Given the description of an element on the screen output the (x, y) to click on. 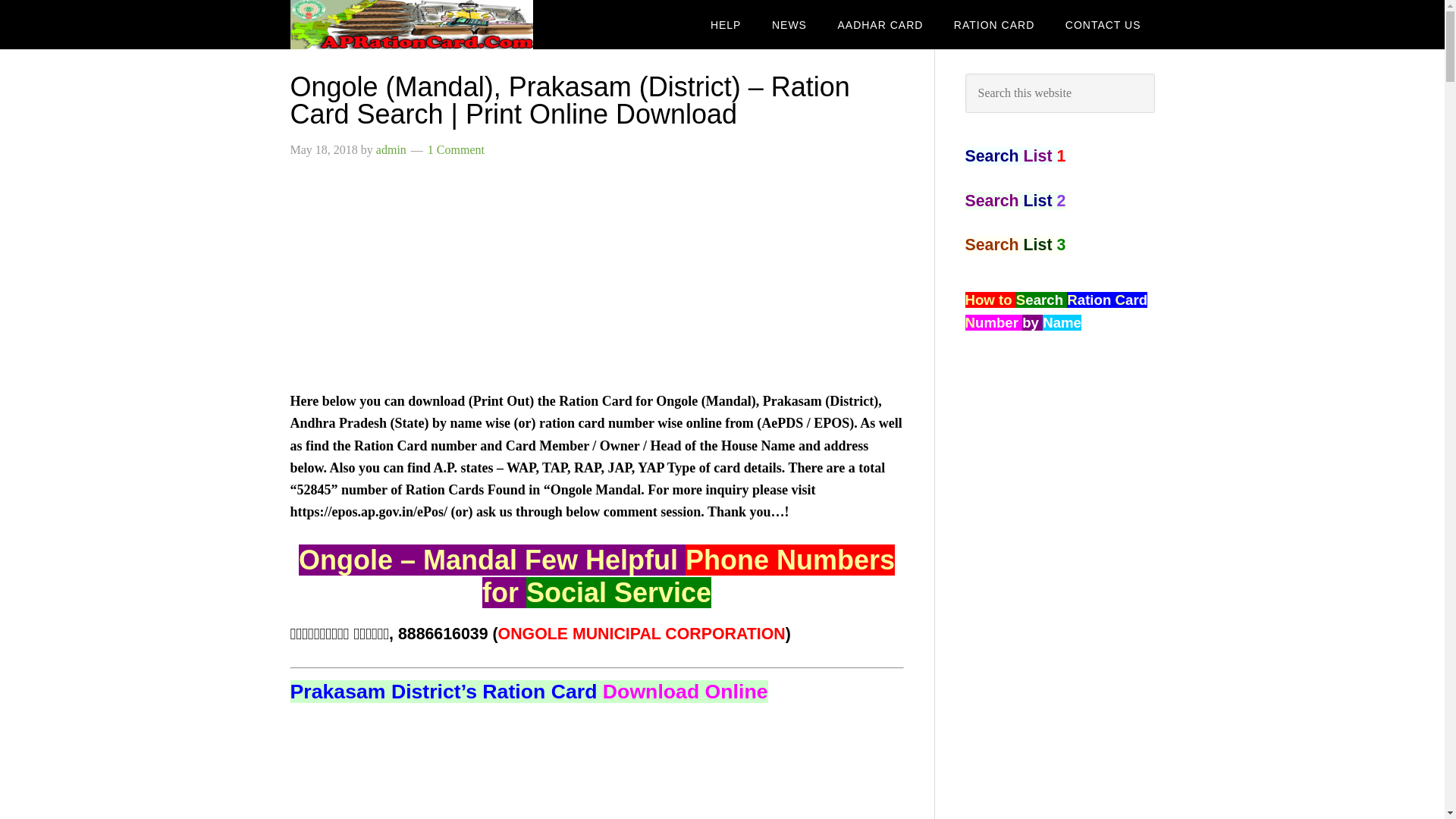
CONTACT US (1102, 24)
Advertisement (595, 284)
APRATIONCARD (410, 24)
RATION CARD (994, 24)
NEWS (789, 24)
1 Comment (456, 149)
AADHAR CARD (880, 24)
Advertisement (595, 773)
HELP (726, 24)
admin (390, 149)
